Given the description of an element on the screen output the (x, y) to click on. 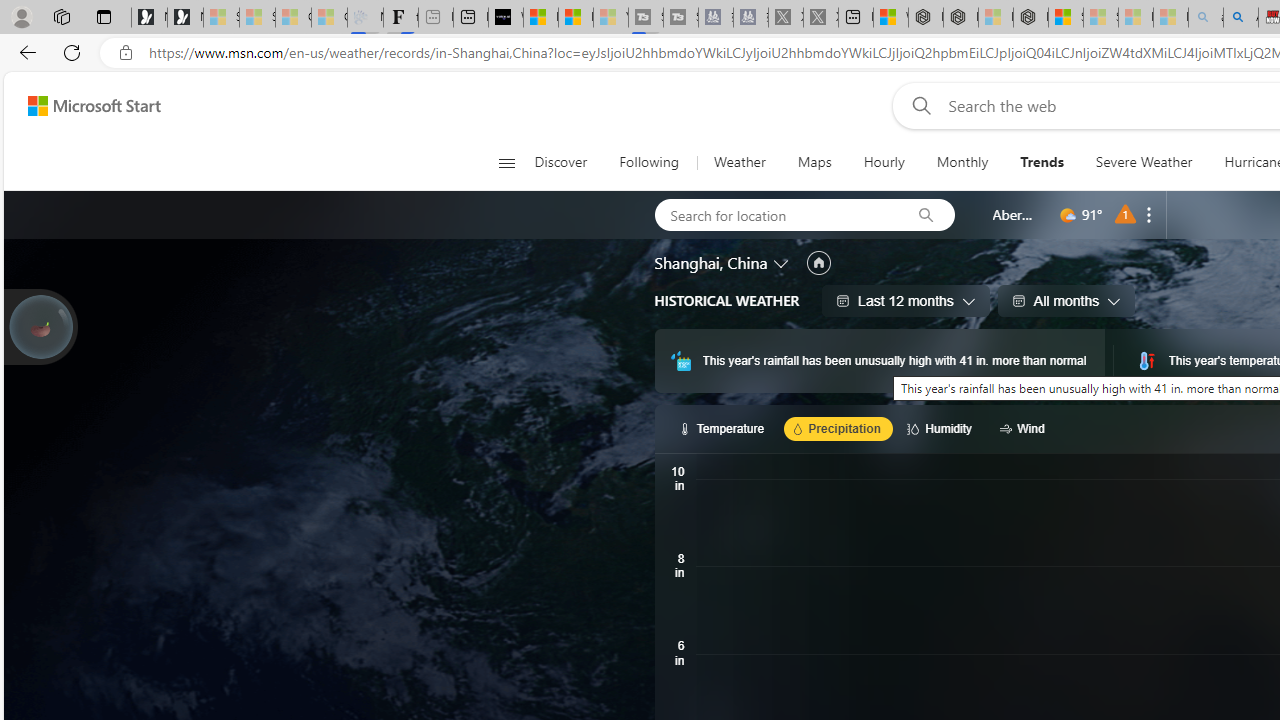
Humidity (942, 428)
Web search (917, 105)
Search for location (776, 214)
Wind (1025, 428)
